Given the description of an element on the screen output the (x, y) to click on. 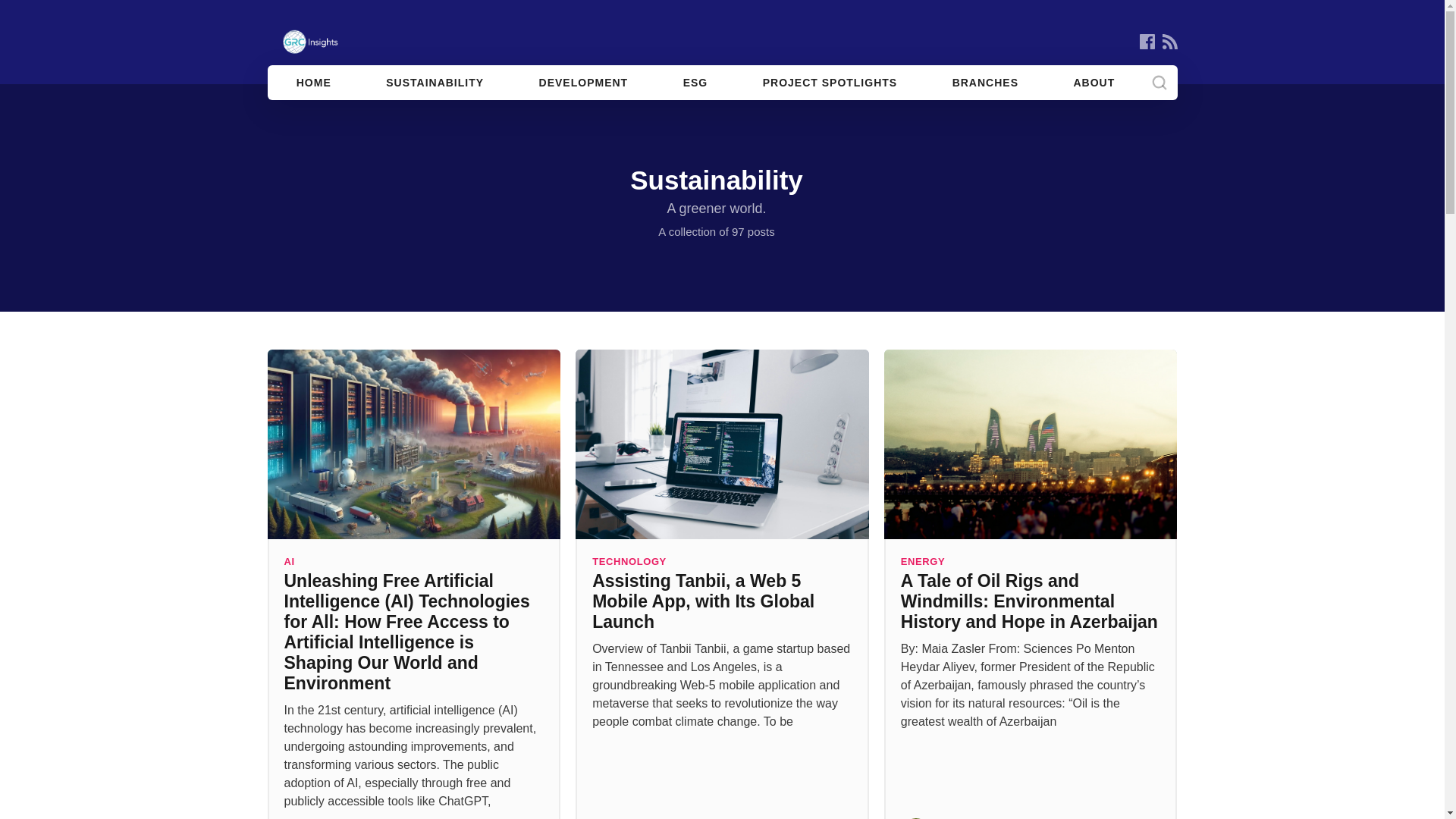
ABOUT (1094, 82)
Facebook icon (1146, 41)
Rose Yang (636, 818)
TECHNOLOGY (629, 560)
BRANCHES (984, 82)
Facebook icon (1146, 41)
SUSTAINABILITY (434, 82)
DEVELOPMENT (583, 82)
Albert Hsu (327, 818)
RSS icon (1168, 41)
